Given the description of an element on the screen output the (x, y) to click on. 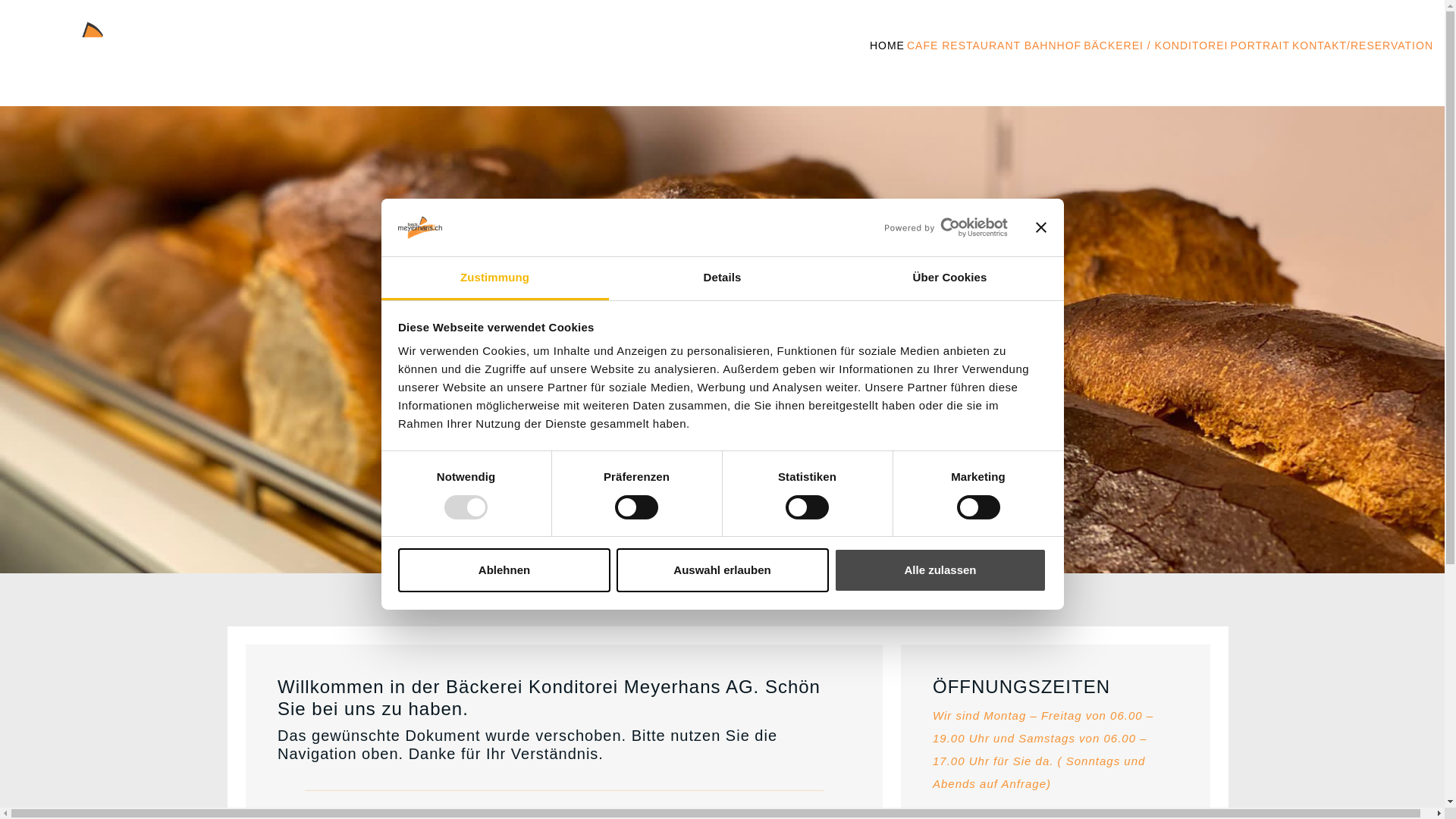
Auswahl erlauben Element type: text (721, 570)
KONTAKT/RESERVATION Element type: text (1362, 45)
HOME Element type: text (886, 45)
CAFE RESTAURANT BAHNHOF Element type: text (993, 45)
Alle zulassen Element type: text (940, 570)
Einstieg/Home Element type: hover (80, 57)
Zustimmung Element type: text (494, 278)
Details Element type: text (721, 278)
Ablehnen Element type: text (504, 570)
PORTRAIT Element type: text (1259, 45)
